Given the description of an element on the screen output the (x, y) to click on. 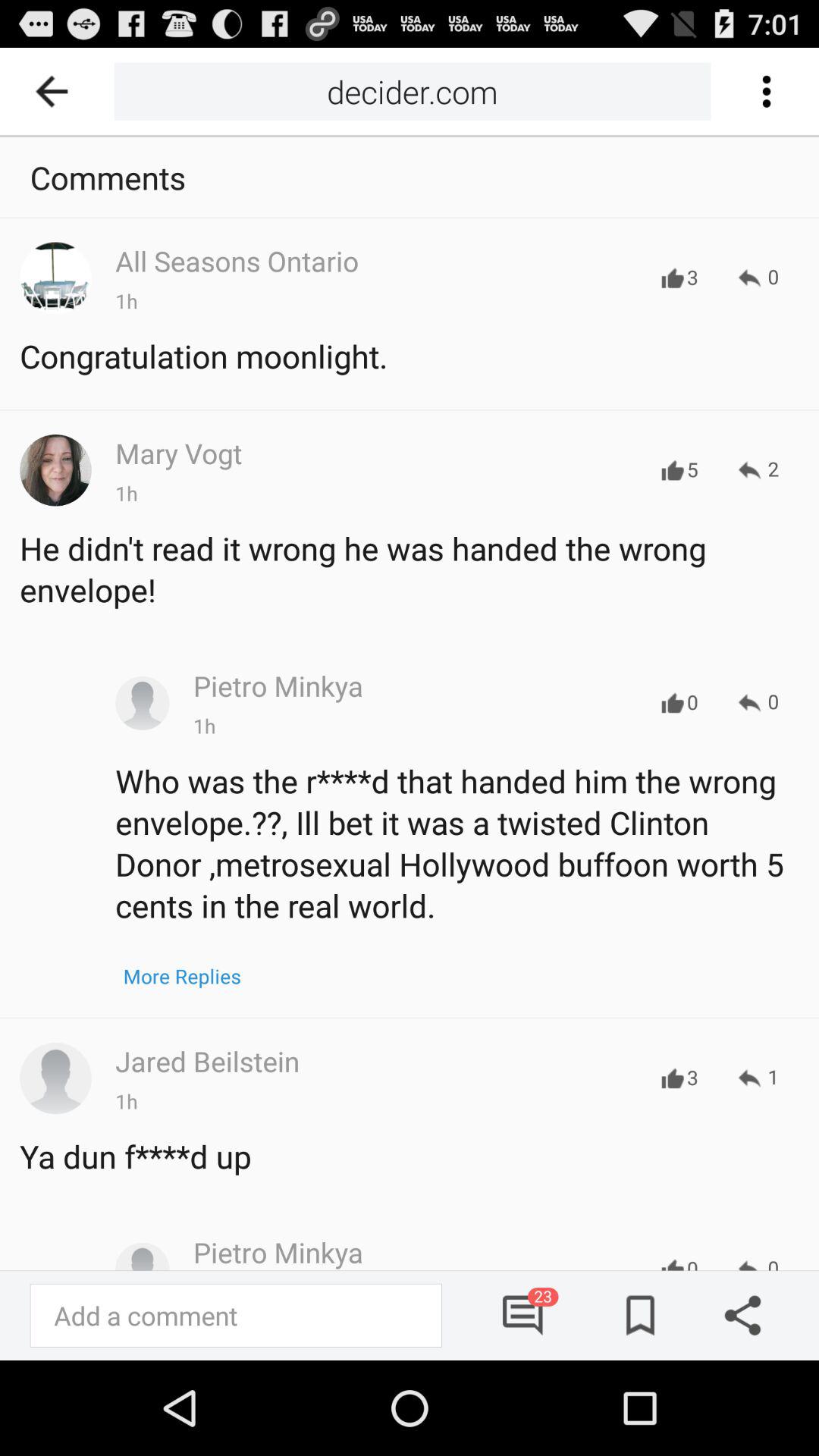
click the more replies icon (182, 975)
